Given the description of an element on the screen output the (x, y) to click on. 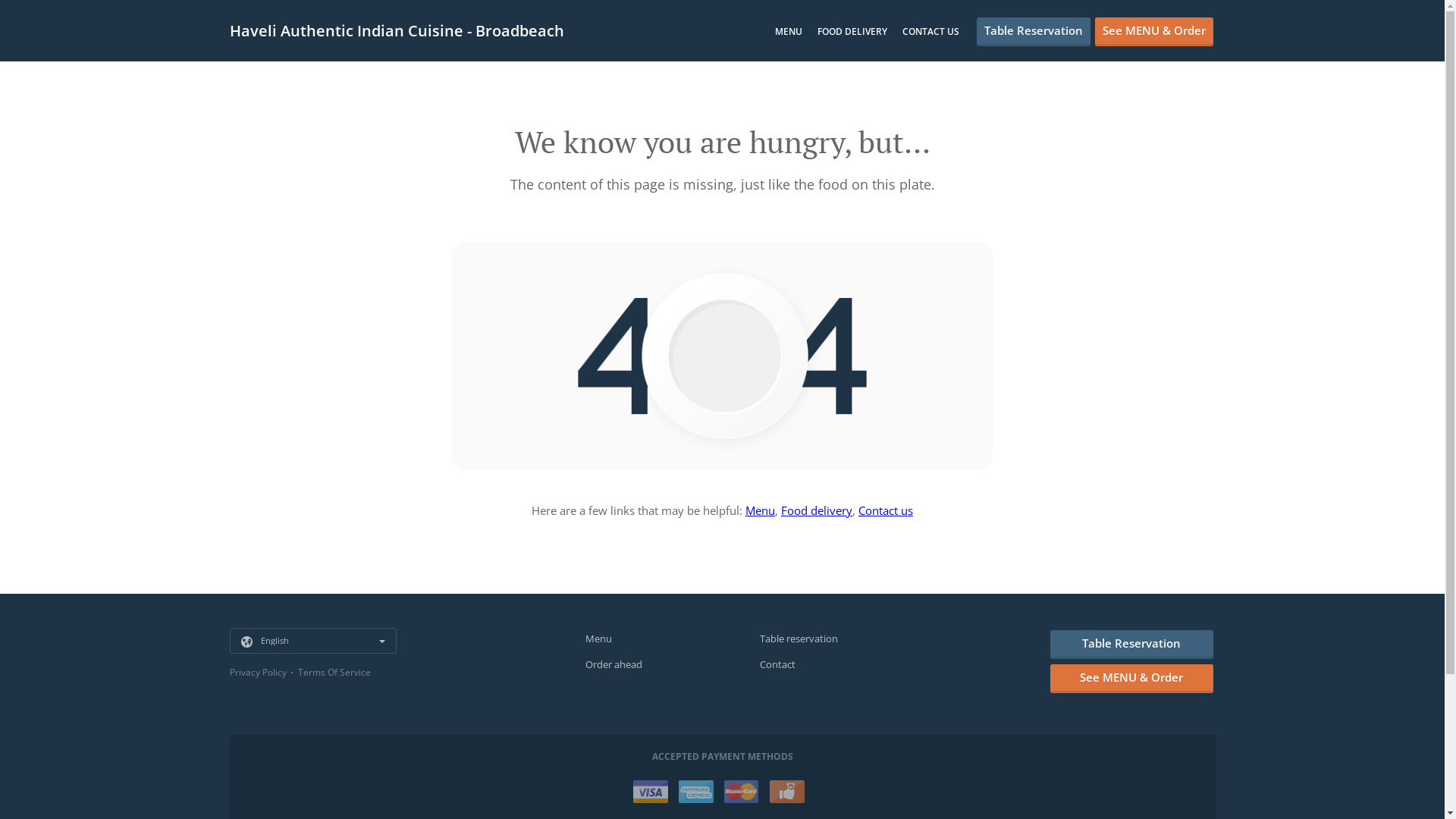
Haveli Authentic Indian Cuisine - Broadbeach Element type: text (403, 30)
Table reservation Element type: text (798, 638)
Menu Element type: text (598, 638)
MENU Element type: text (788, 31)
Terms Of Service Element type: text (333, 671)
Privacy Policy Element type: text (257, 671)
CONTACT US Element type: text (930, 31)
Contact Element type: text (777, 664)
FOOD DELIVERY Element type: text (852, 31)
Food delivery Element type: text (816, 509)
Contact us Element type: text (885, 509)
Menu Element type: text (760, 509)
Order ahead Element type: text (613, 664)
